Given the description of an element on the screen output the (x, y) to click on. 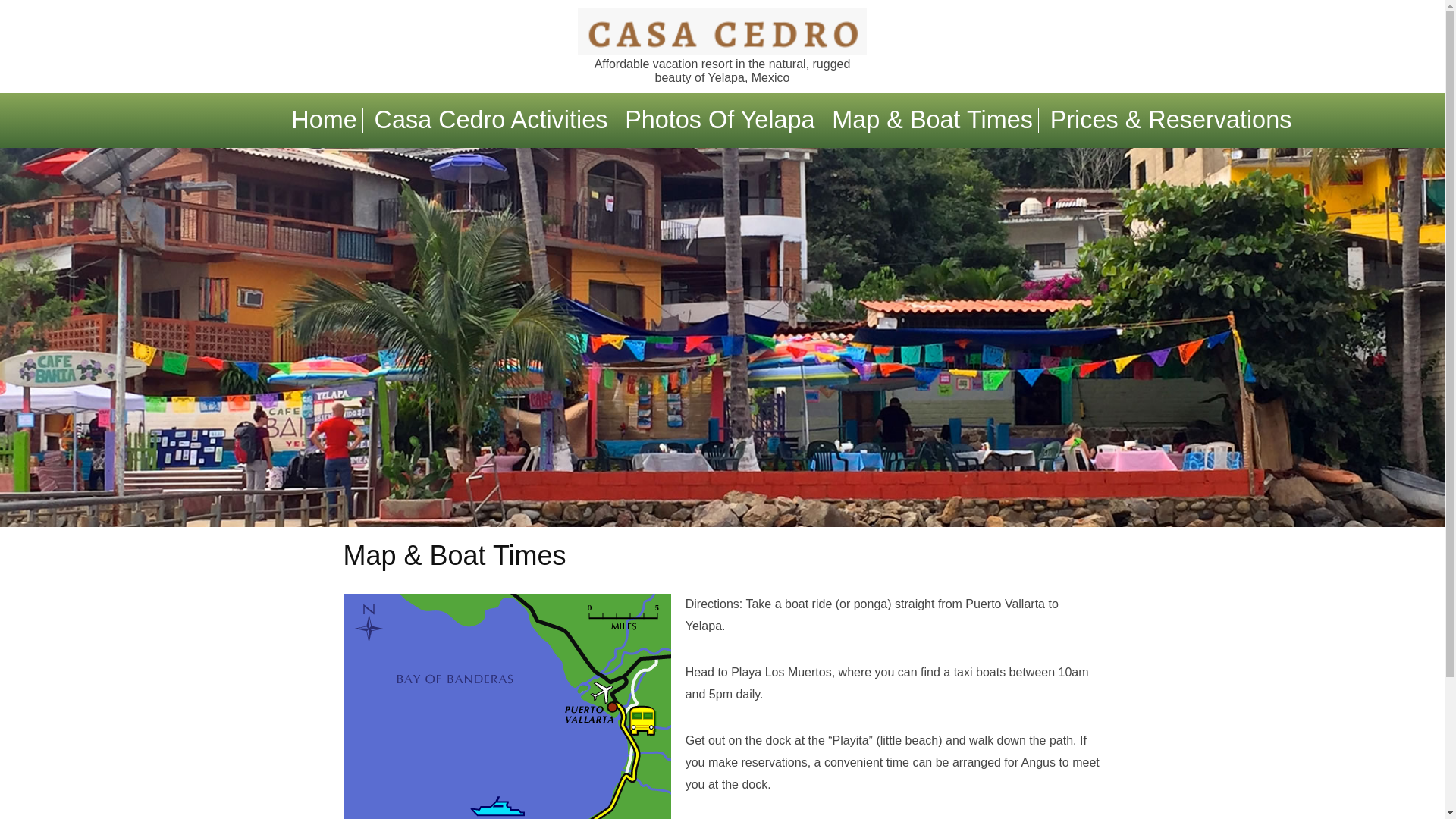
Photos Of Yelapa (718, 119)
Home (323, 119)
Casa Cedro Activities (491, 119)
